Given the description of an element on the screen output the (x, y) to click on. 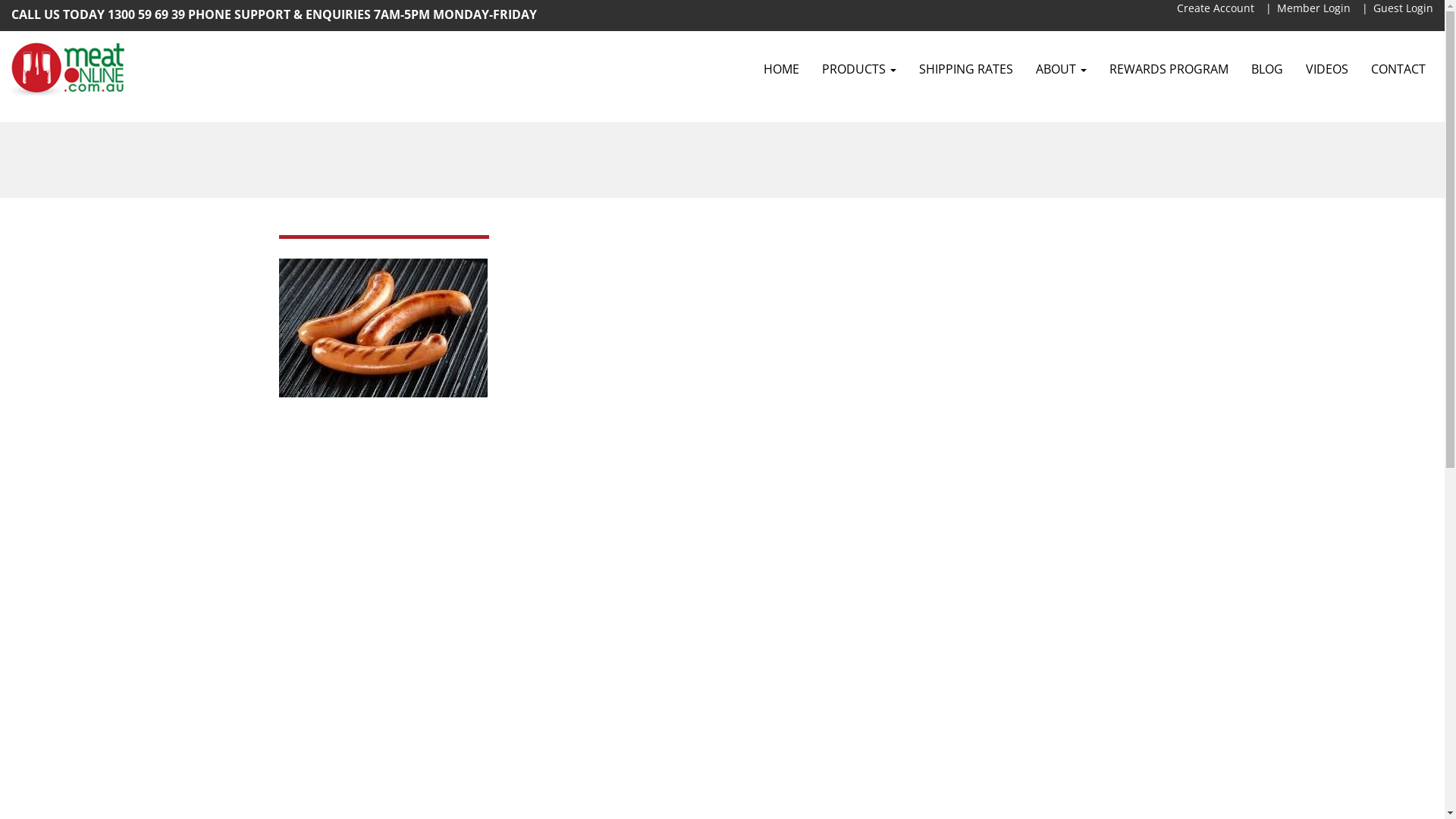
ABOUT Element type: text (1061, 68)
PRODUCTS Element type: text (858, 68)
1300 59 69 39 Element type: text (146, 14)
REWARDS PROGRAM Element type: text (1168, 68)
BLOG Element type: text (1266, 68)
CONTACT Element type: text (1398, 68)
SHIPPING RATES Element type: text (965, 68)
HOME Element type: text (781, 68)
VIDEOS Element type: text (1326, 68)
